Given the description of an element on the screen output the (x, y) to click on. 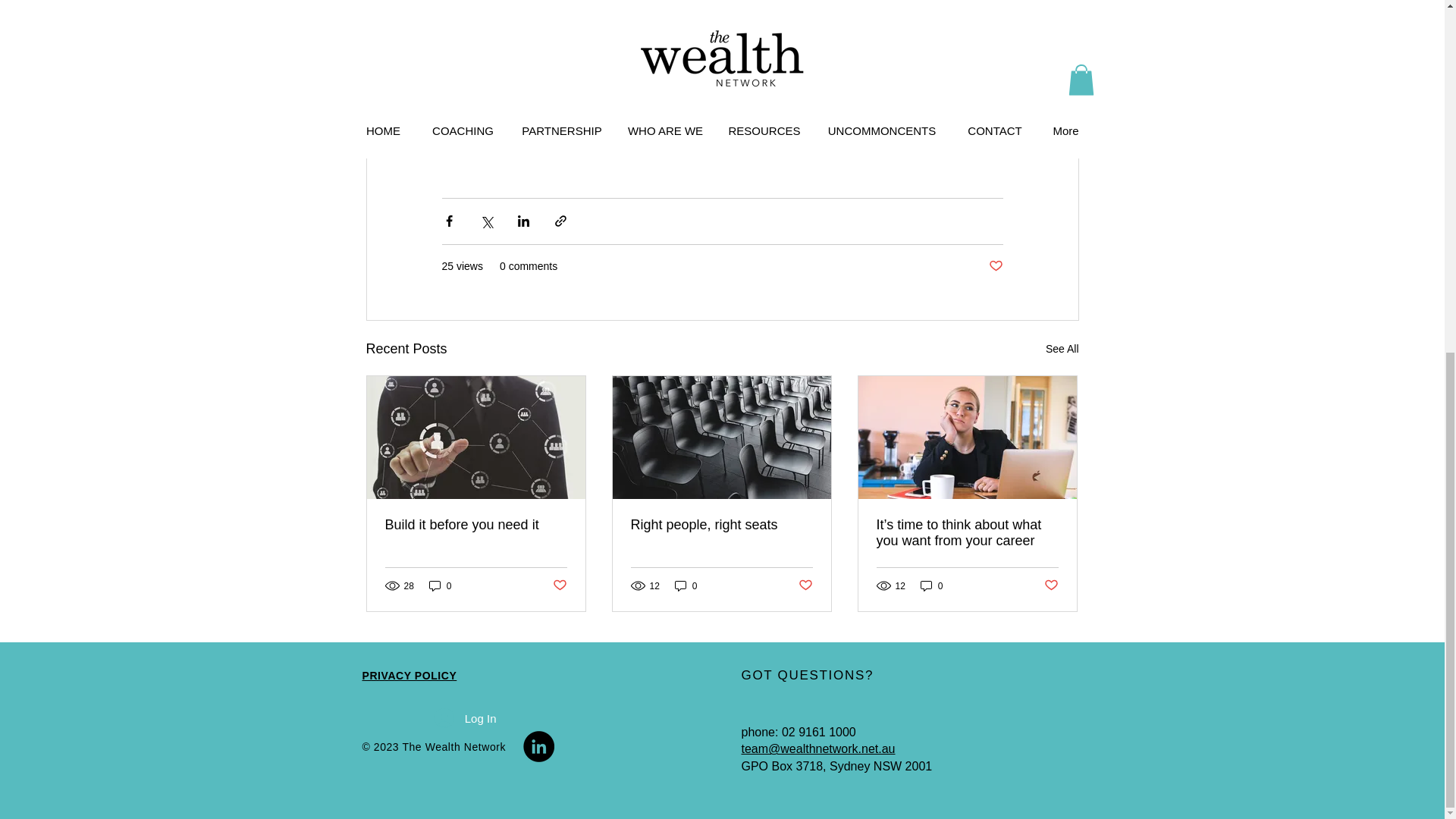
See All (1061, 349)
0 (440, 585)
Build it before you need it (476, 524)
Post not marked as liked (995, 266)
